Given the description of an element on the screen output the (x, y) to click on. 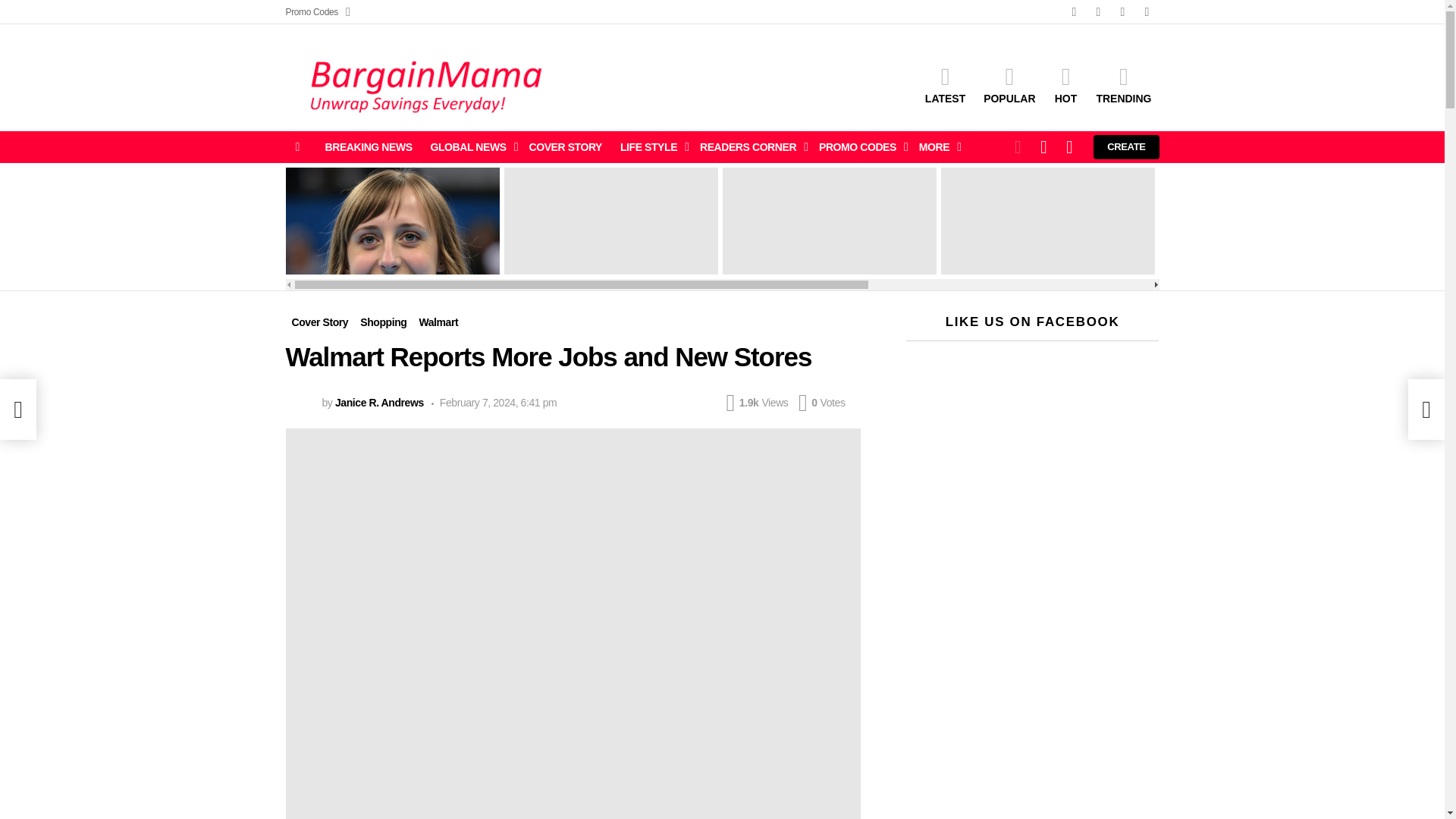
Instagram (1121, 11)
GLOBAL NEWS (470, 146)
Twitter (1097, 11)
COVER STORY (565, 146)
Facebook (1073, 11)
Posts by Janice R. Andrews (378, 402)
PROMO CODES (859, 146)
POPULAR (1008, 83)
HOT (1064, 83)
READERS CORNER (750, 146)
TRENDING (1122, 83)
Promo Codes (317, 12)
Menu (296, 147)
